Given the description of an element on the screen output the (x, y) to click on. 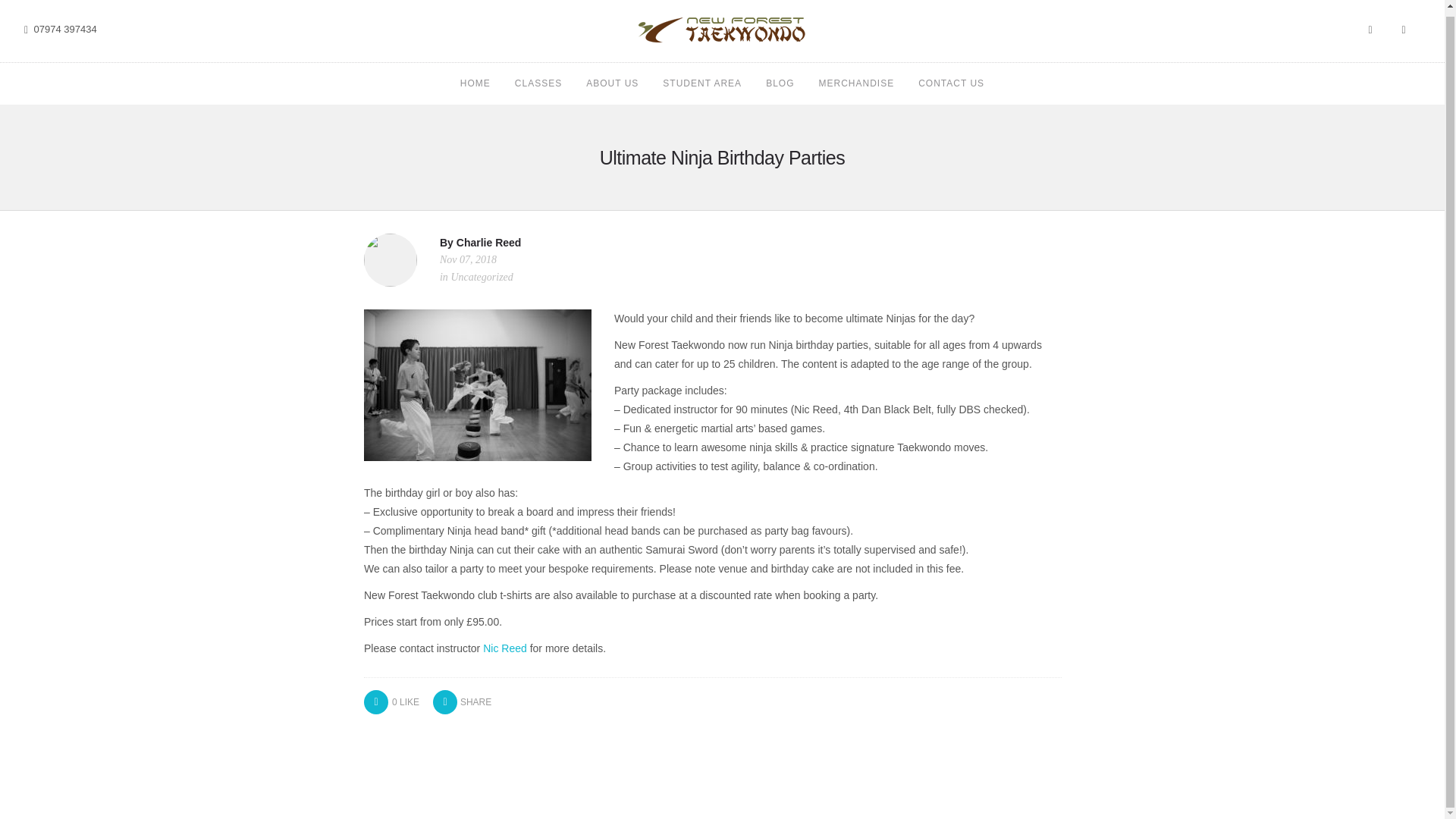
STUDENT AREA (701, 83)
Posts by Charlie Reed (489, 242)
Nic Reed (505, 648)
Uncategorized (480, 276)
MERCHANDISE (856, 83)
ABOUT US (612, 83)
CONTACT US (951, 83)
0 LIKE (391, 701)
CLASSES (538, 83)
Charlie Reed (489, 242)
SHARE (461, 702)
